Given the description of an element on the screen output the (x, y) to click on. 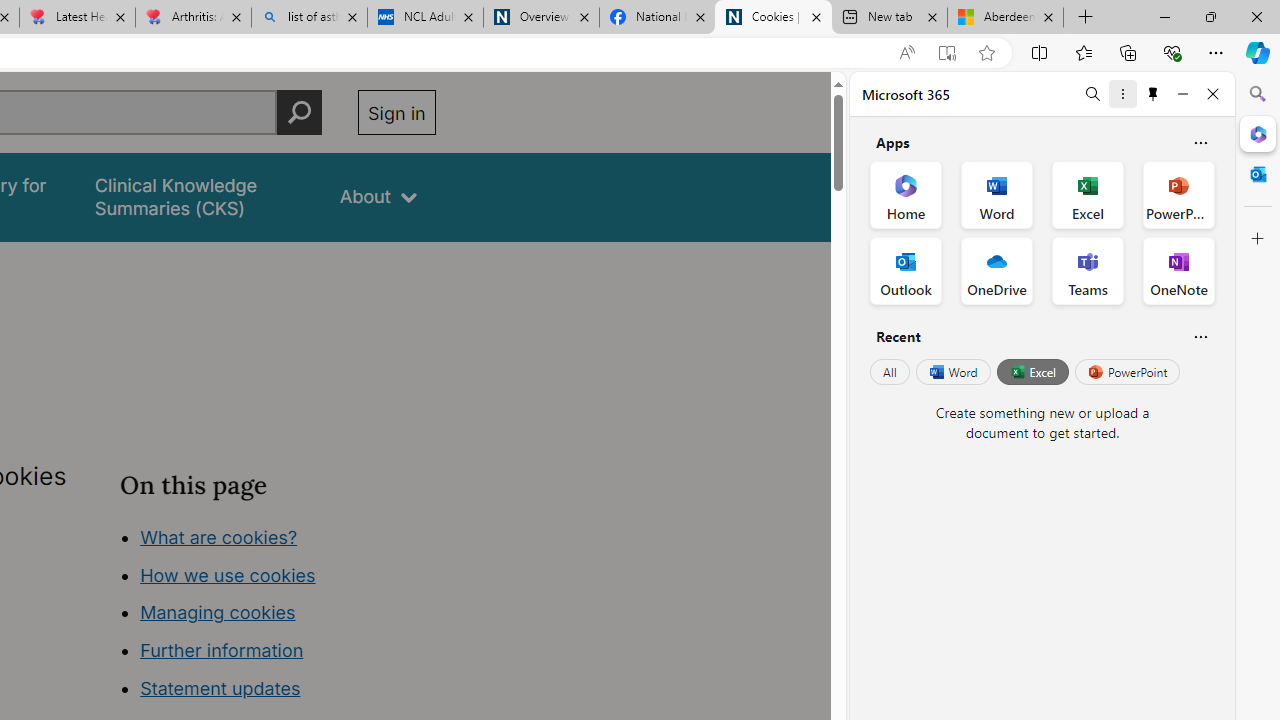
Cookies | About | NICE (772, 17)
What are cookies? (218, 536)
Teams Office App (1087, 270)
NCL Adult Asthma Inhaler Choice Guideline (424, 17)
Is this helpful? (1200, 336)
Word (952, 372)
PowerPoint (1127, 372)
